Given the description of an element on the screen output the (x, y) to click on. 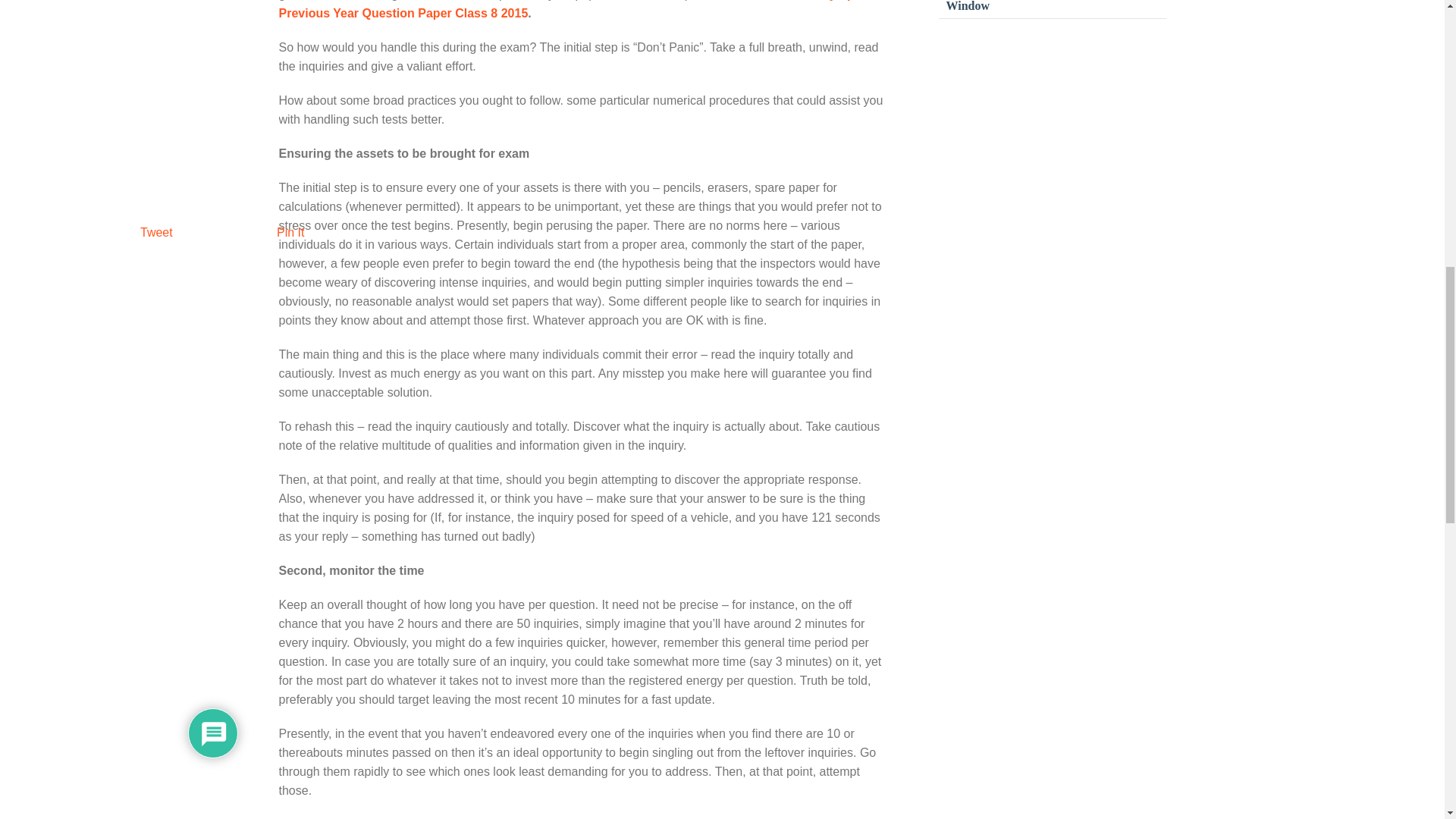
IMO Maths Olympiad Previous Year Question Paper Class 8 2015 (575, 9)
